Given the description of an element on the screen output the (x, y) to click on. 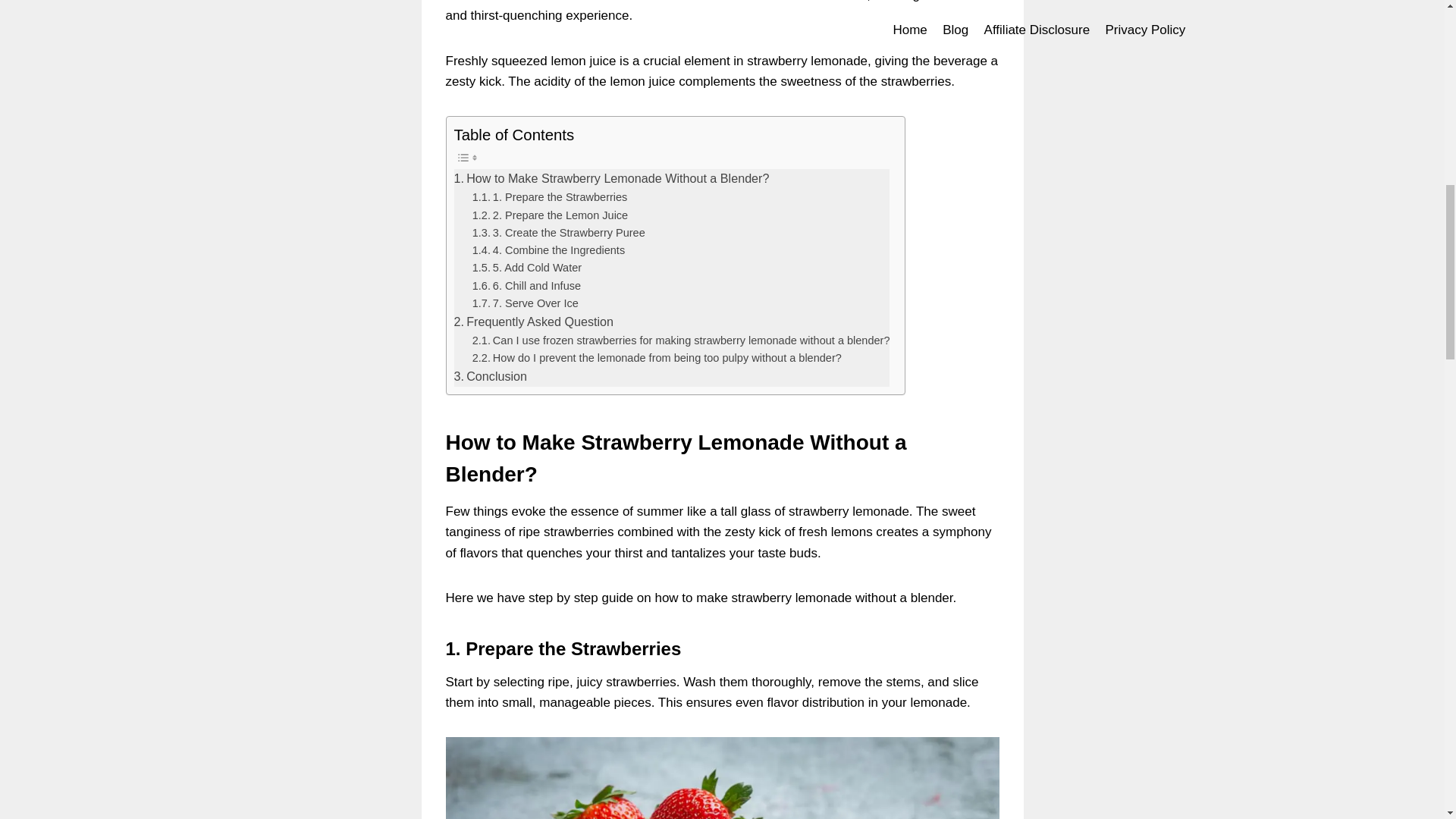
Frequently Asked Question (532, 322)
2. Prepare the Lemon Juice (549, 215)
1. Prepare the Strawberries (549, 197)
How to Make Strawberry Lemonade Without a Blender? (610, 178)
Conclusion (489, 376)
Frequently Asked Question (532, 322)
Conclusion (489, 376)
4. Combine the Ingredients (547, 250)
5. Add Cold Water (525, 267)
